Given the description of an element on the screen output the (x, y) to click on. 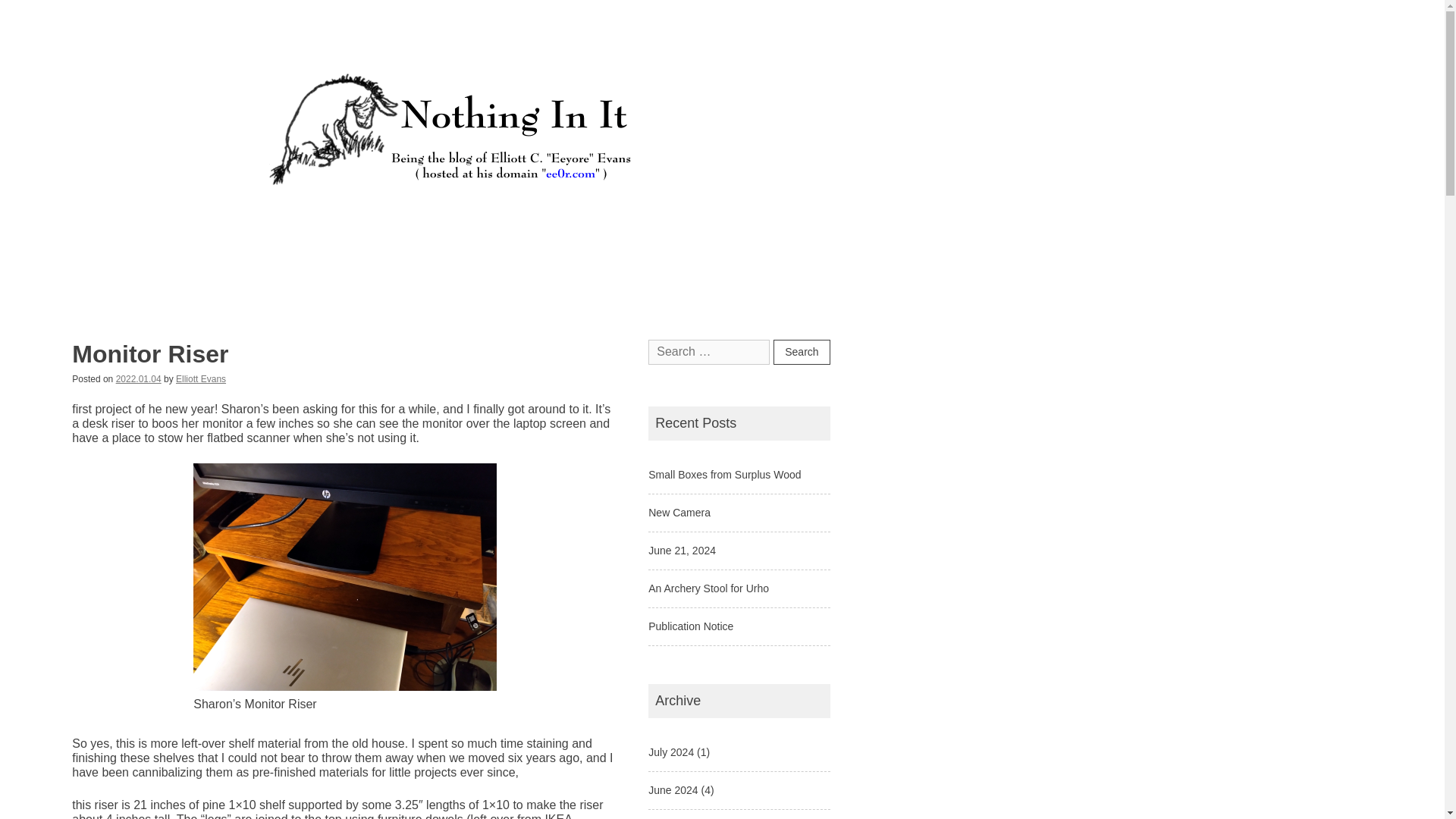
Publication Notice (690, 625)
Nothing In It (124, 204)
Small Boxes from Surplus Wood (723, 474)
June 2024 (672, 789)
An Archery Stool for Urho (707, 588)
June 21, 2024 (681, 550)
Elliott Evans (200, 378)
Search (801, 351)
Search (801, 351)
Search (801, 351)
July 2024 (670, 752)
2022.01.04 (138, 378)
New Camera (678, 512)
